Given the description of an element on the screen output the (x, y) to click on. 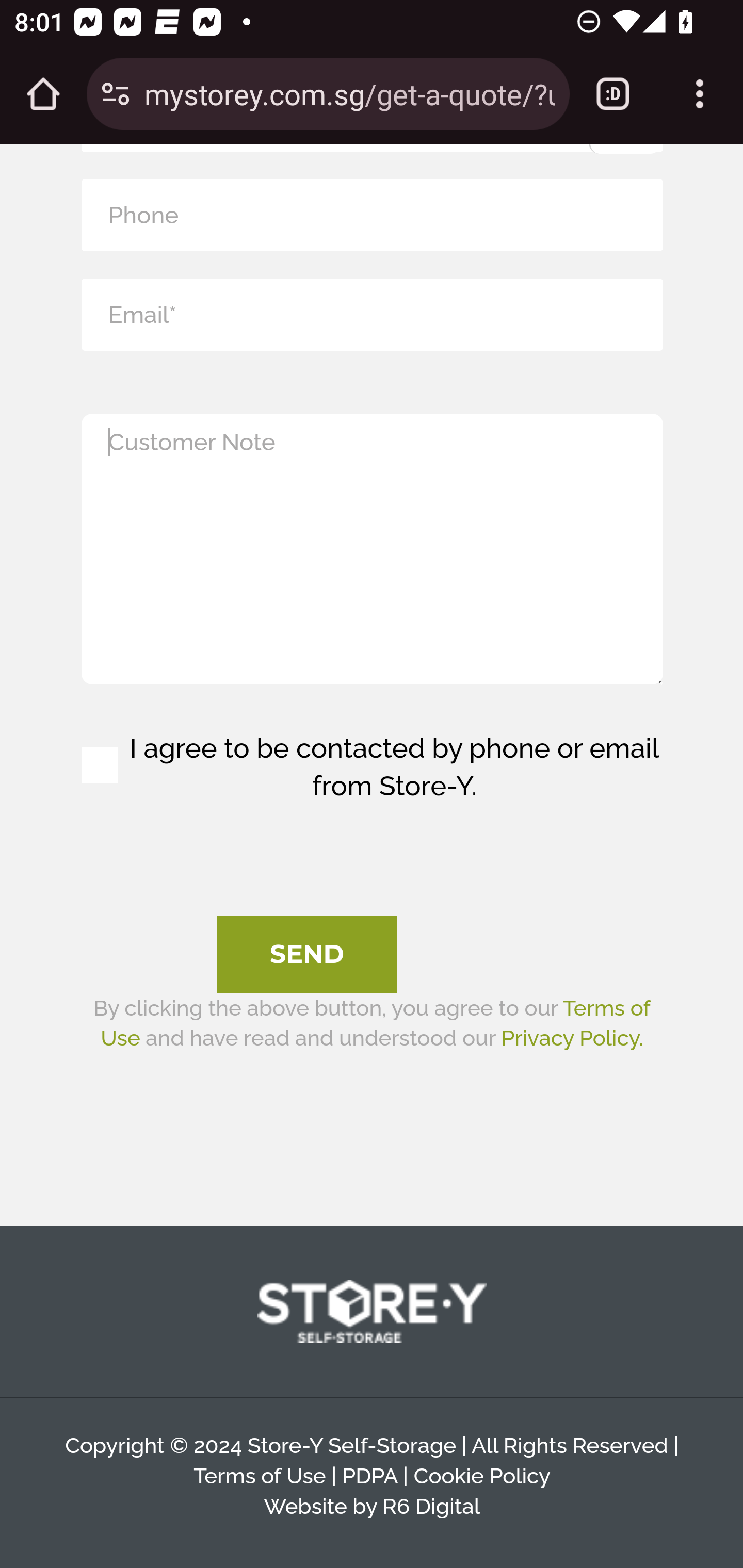
Open the home page (43, 93)
Connection is secure (115, 93)
Switch or close tabs (612, 93)
Customize and control Google Chrome (699, 93)
Send (306, 954)
Terms of Use (374, 1023)
Privacy Policy. (572, 1038)
store-y logo no background | Store-y Self Storage (371, 1312)
Terms of Use (259, 1477)
PDPA (369, 1477)
Cookie Policy (480, 1477)
R6 Digital (430, 1505)
